Given the description of an element on the screen output the (x, y) to click on. 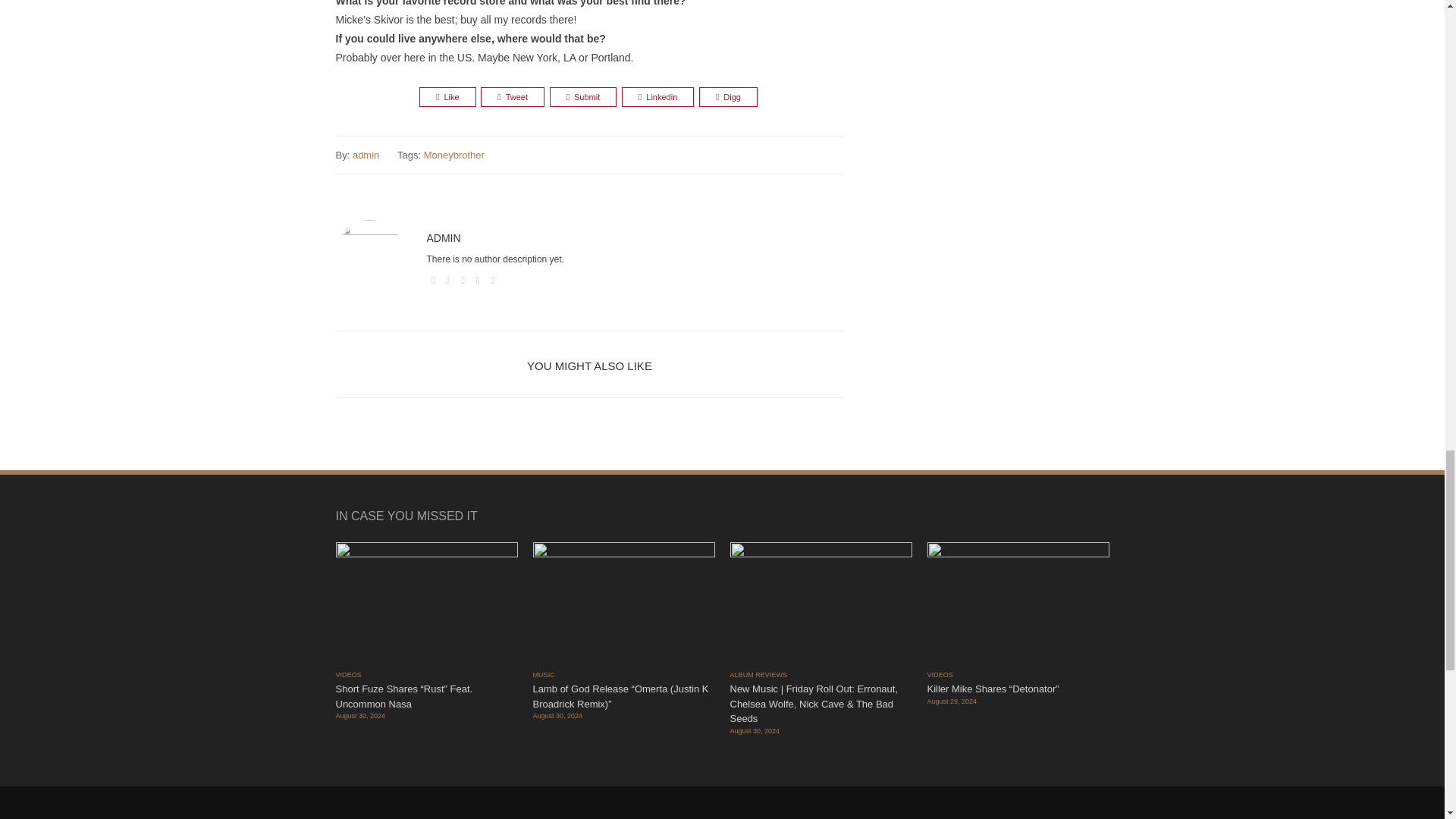
Tweet (512, 96)
Short Fuze Shares "Rust" Feat. Uncommon Nasa (425, 604)
Like (447, 96)
Killer Mike Shares "Detonator" (1017, 604)
